Given the description of an element on the screen output the (x, y) to click on. 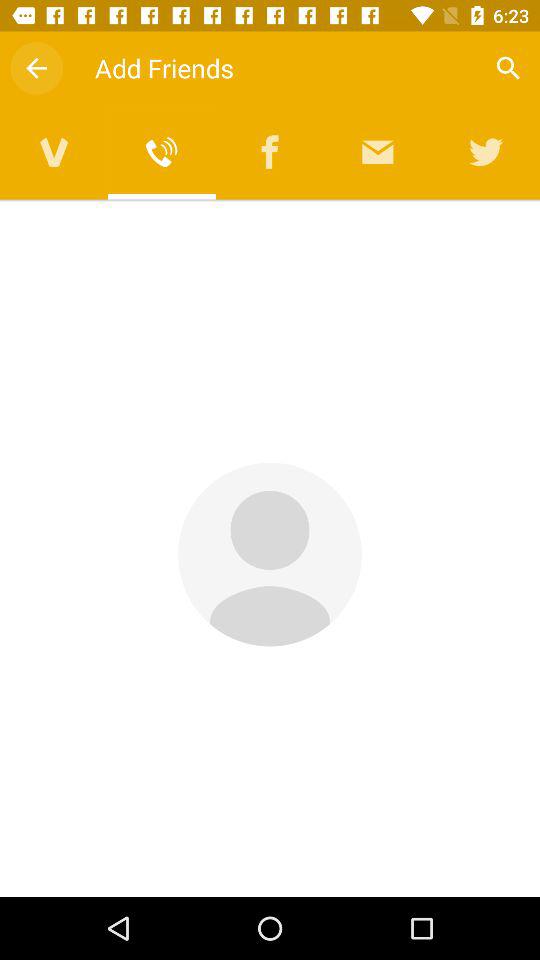
tweet (486, 152)
